Given the description of an element on the screen output the (x, y) to click on. 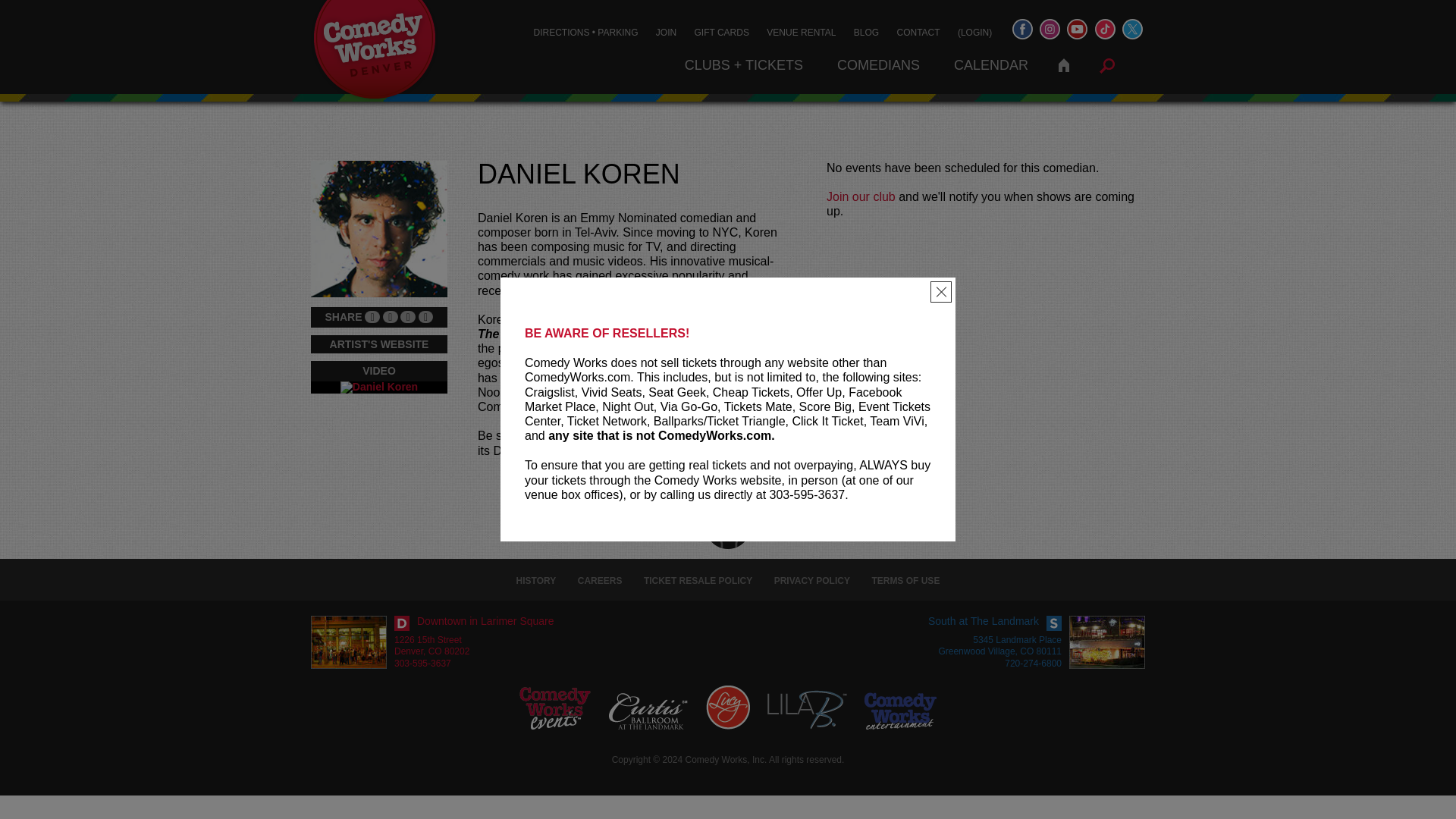
Blog (866, 32)
Home (1063, 65)
Close (941, 291)
JOIN (666, 32)
Contact (917, 32)
VENUE RENTAL (801, 32)
COMEDIANS (878, 64)
BLOG (866, 32)
YouTube Icon (1076, 28)
Join (666, 32)
Instagram Icon (1049, 28)
Gift Cards (721, 32)
GIFT CARDS (721, 32)
CONTACT (917, 32)
Facebook Icon (1022, 28)
